Given the description of an element on the screen output the (x, y) to click on. 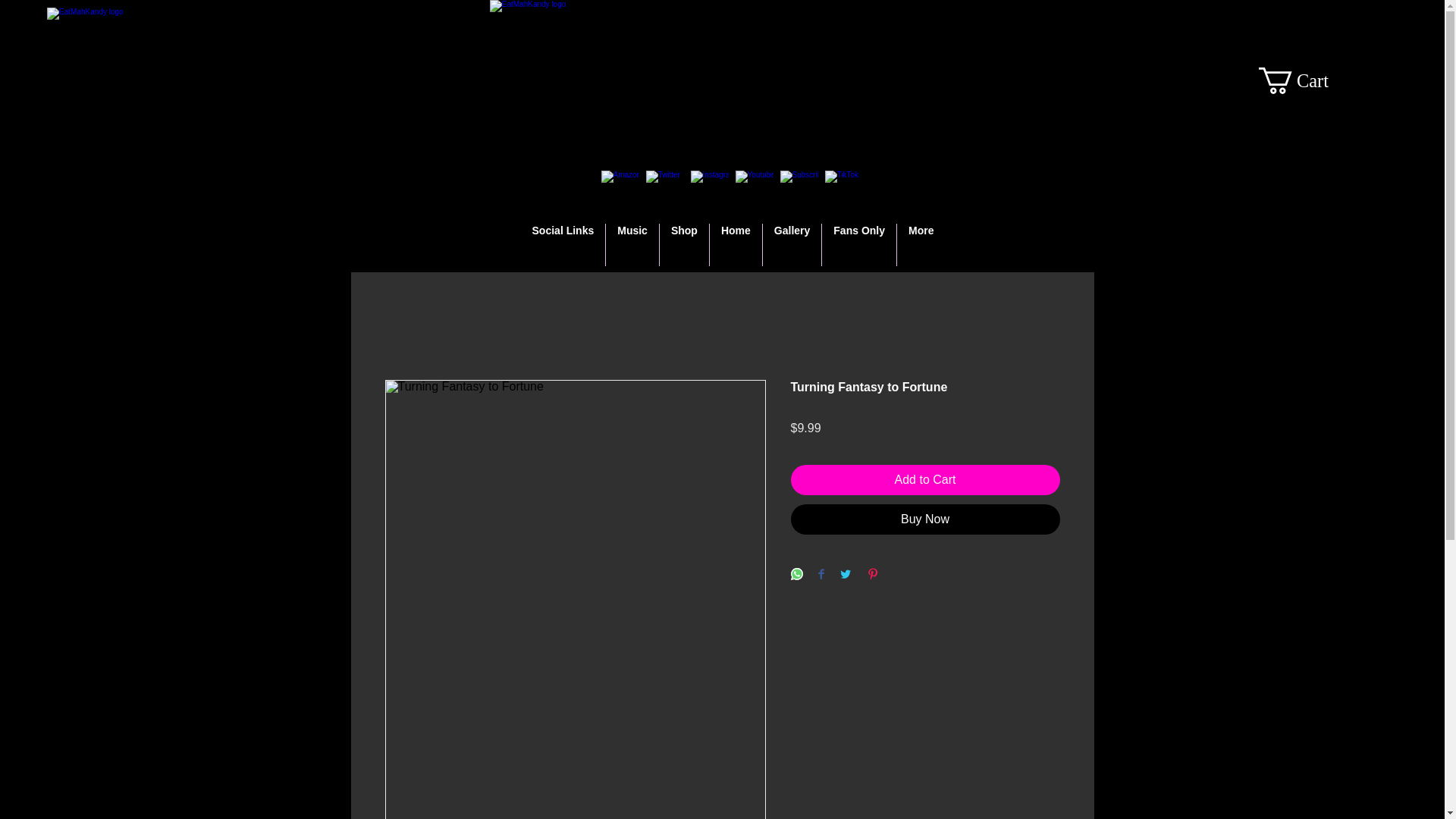
Fans Only (859, 244)
Home (735, 244)
Cart (1308, 80)
Cart (1308, 80)
Music (632, 244)
Add to Cart (924, 480)
Shop (684, 244)
Buy Now (924, 519)
Gallery (791, 244)
